Given the description of an element on the screen output the (x, y) to click on. 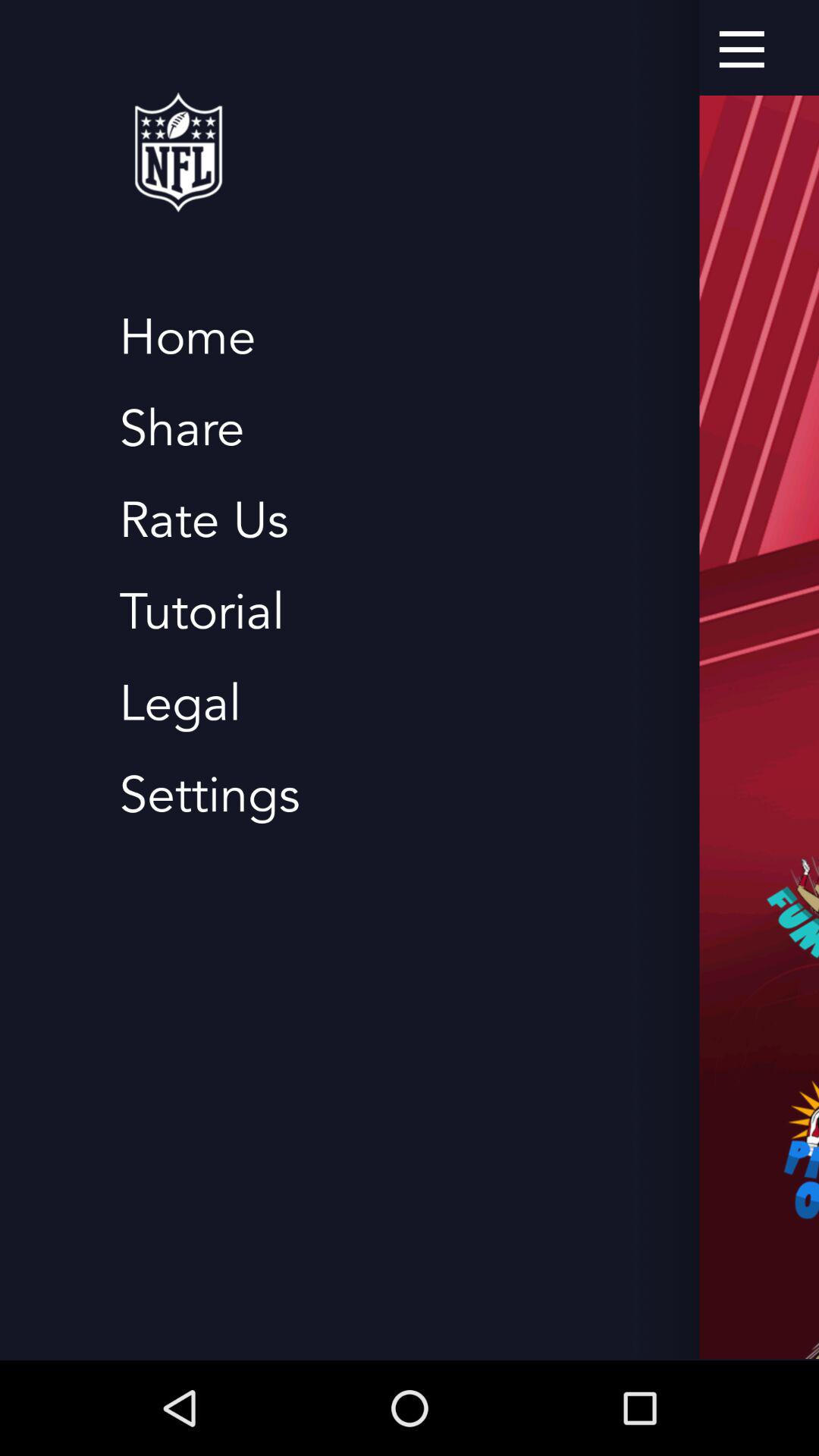
press share item (181, 429)
